Given the description of an element on the screen output the (x, y) to click on. 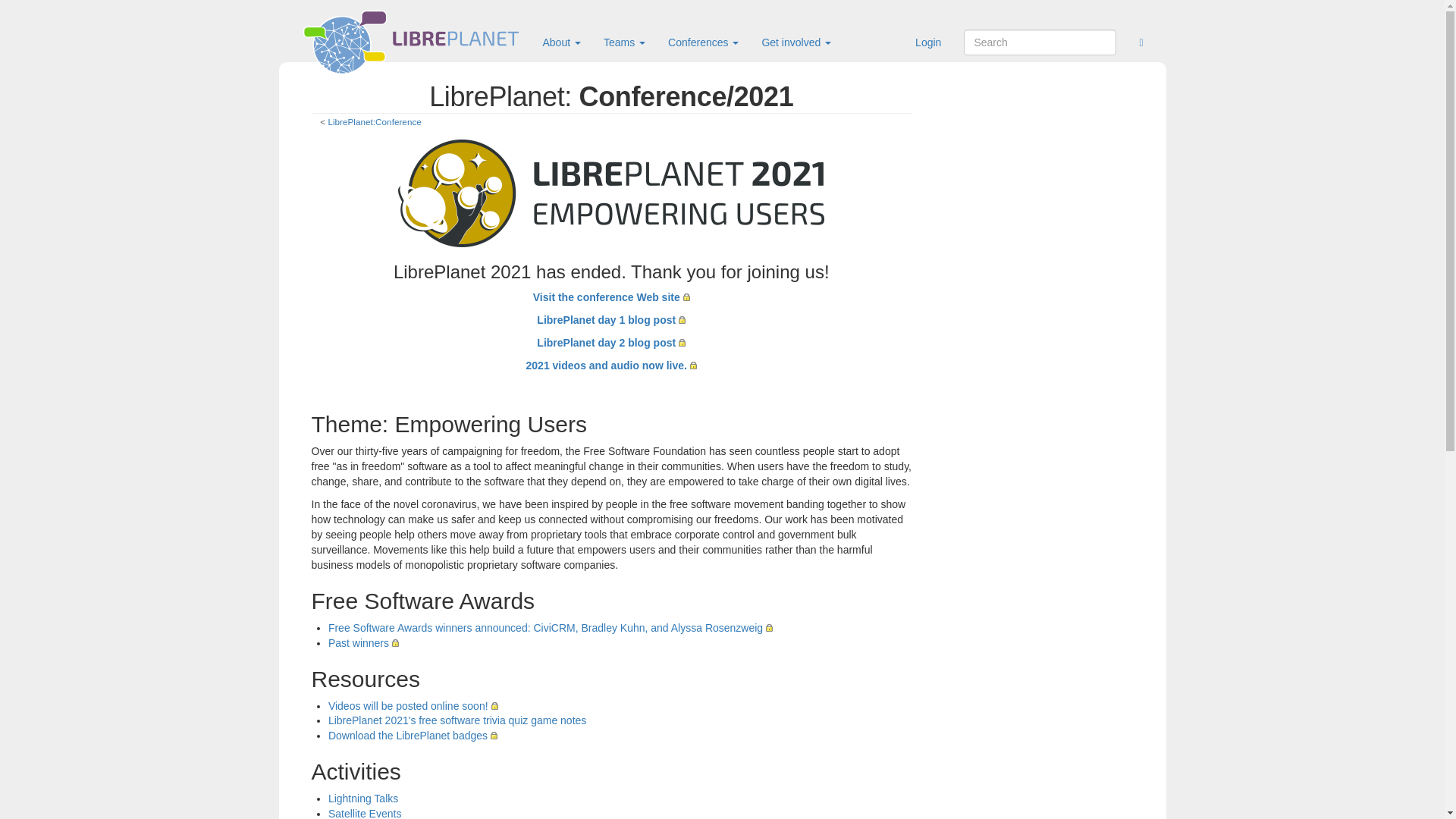
Visit the conference Web site (611, 297)
Lightning Talks (363, 798)
Past winners (363, 643)
Teams (624, 42)
2021 videos and audio now live. (611, 365)
Get involved (796, 42)
Login (928, 42)
LibrePlanet day 2 blog post (611, 342)
LibrePlanet 2021's free software trivia quiz game notes (457, 720)
Conferences (702, 42)
